Given the description of an element on the screen output the (x, y) to click on. 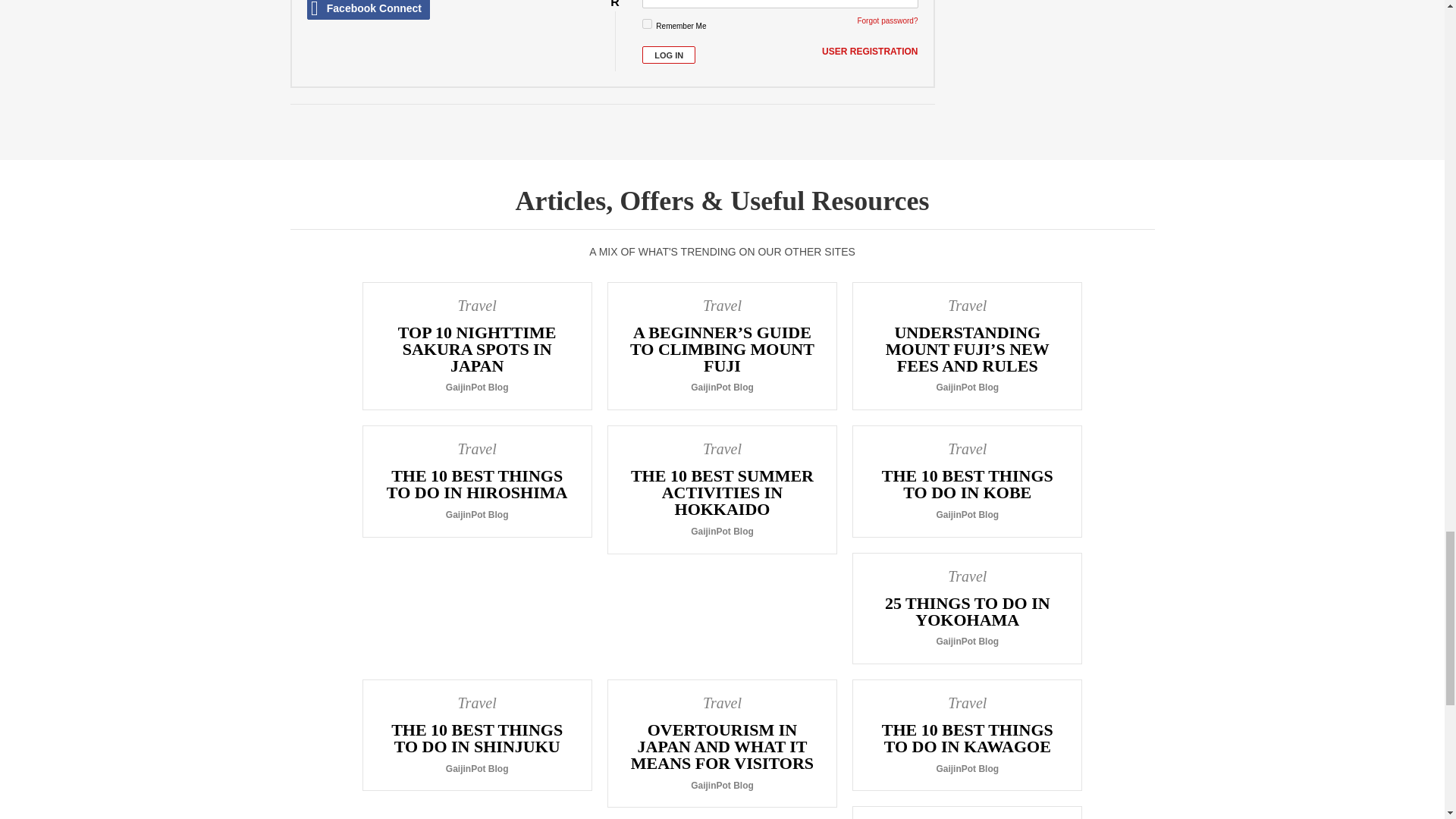
Forgot password? (887, 20)
Log In (668, 54)
1 (647, 23)
Connect with Facebook (367, 9)
User registration (869, 51)
